Given the description of an element on the screen output the (x, y) to click on. 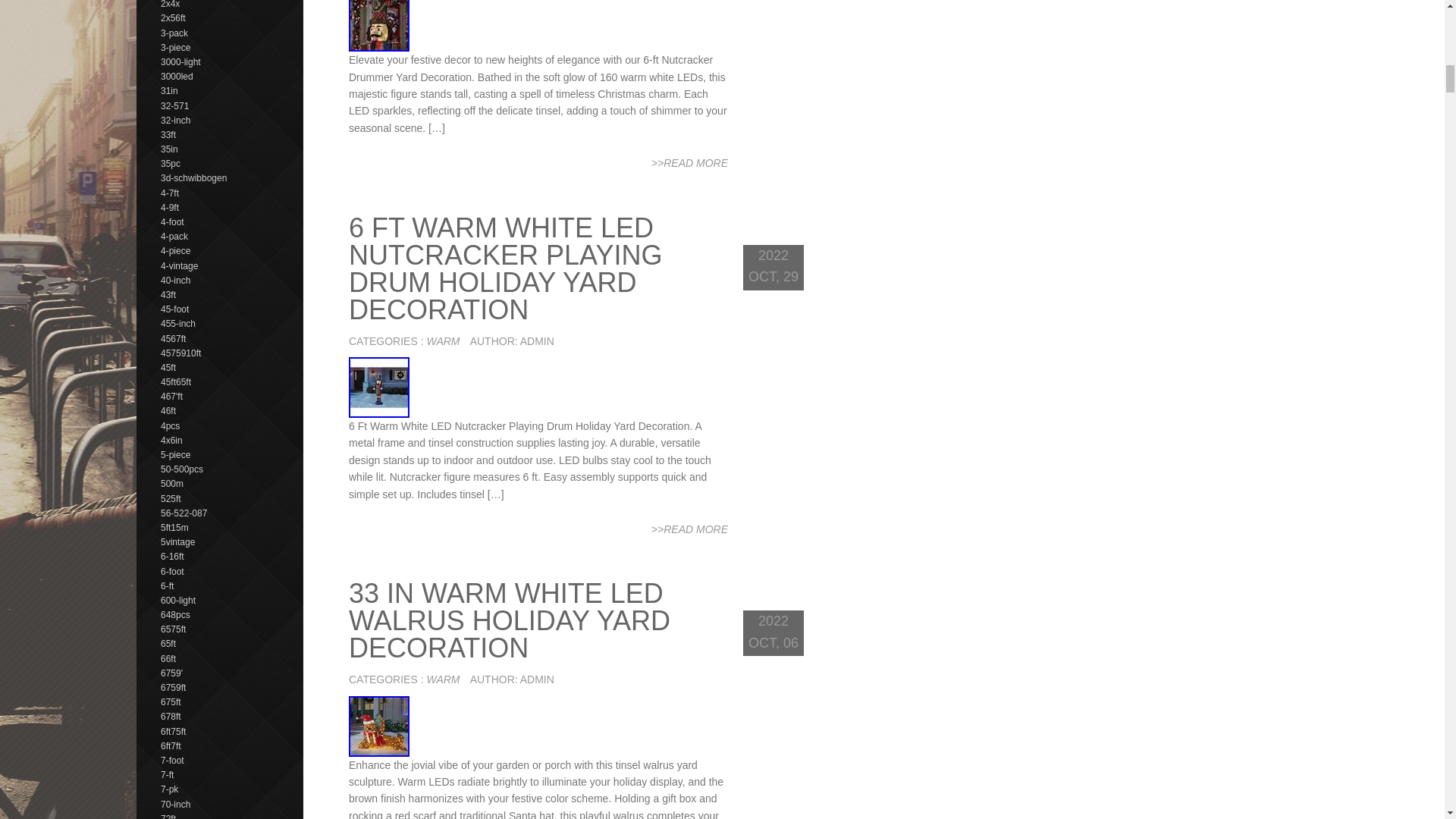
WARM (443, 679)
WARM (443, 340)
33 IN WARM WHITE LED WALRUS HOLIDAY YARD DECORATION (509, 620)
